Given the description of an element on the screen output the (x, y) to click on. 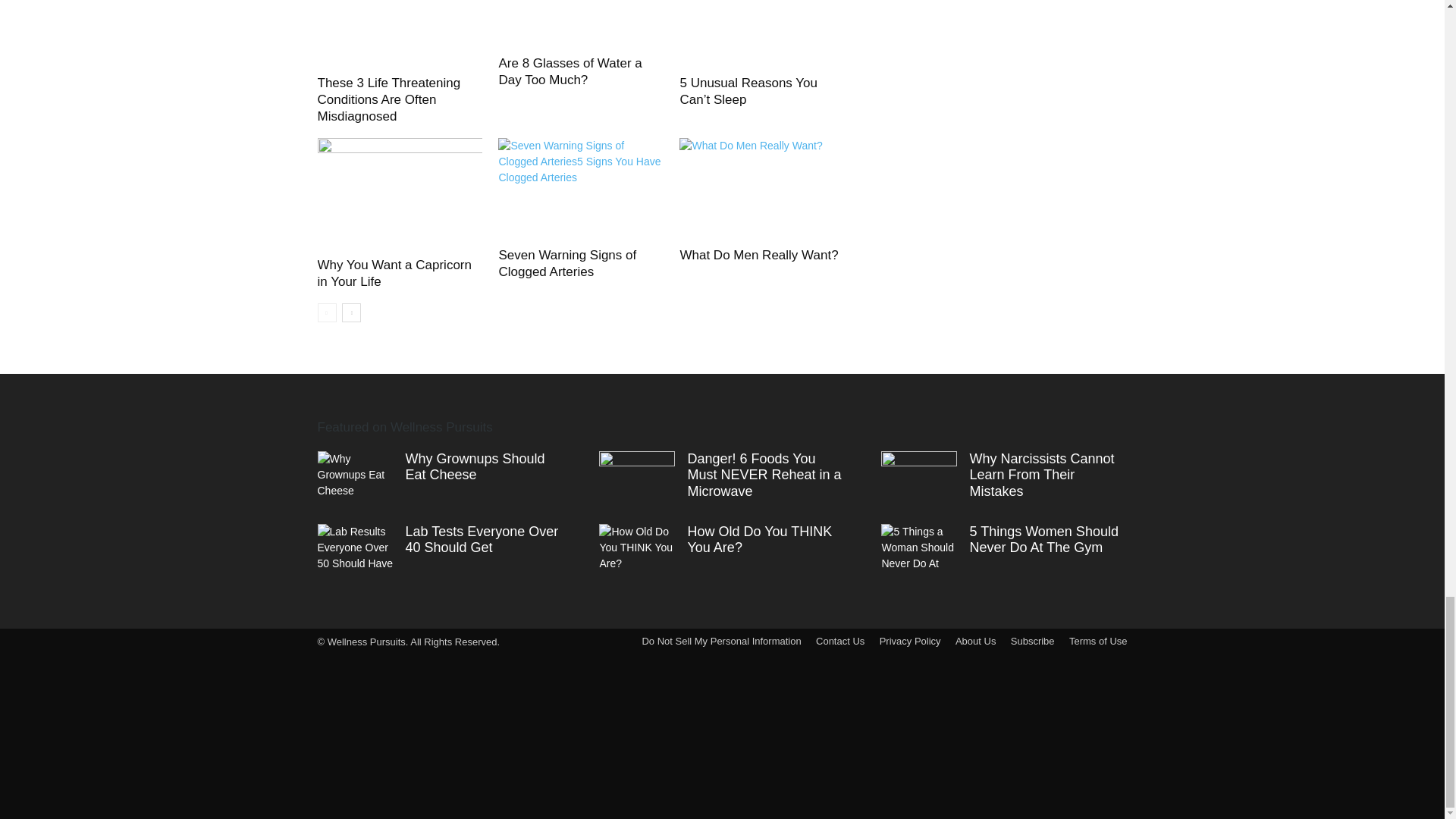
What Do Men Really Want? (758, 255)
Are 8 Glasses of Water a Day Too Much? (569, 71)
These 3 Life Threatening Conditions Are Often Misdiagnosed (399, 34)
These 3 Life Threatening Conditions Are Often Misdiagnosed (388, 99)
Seven Warning Signs of Clogged Arteries (566, 263)
Why You Want a Capricorn in Your Life (393, 273)
Are 8 Glasses of Water a Day Too Much? (569, 71)
Are 8 Glasses of Water a Day Too Much? (580, 24)
These 3 Life Threatening Conditions Are Often Misdiagnosed (388, 99)
